Given the description of an element on the screen output the (x, y) to click on. 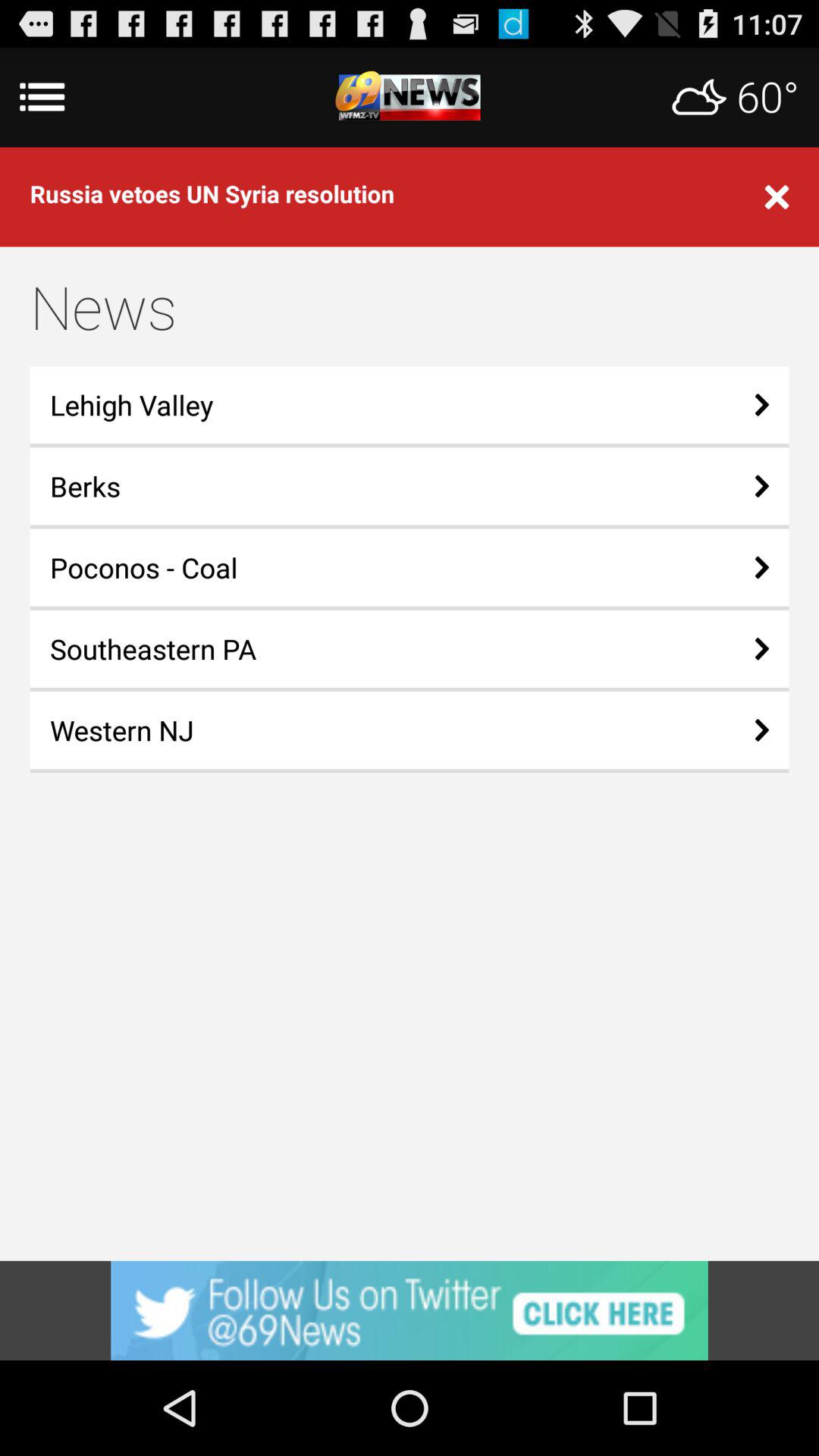
advertisement (409, 1310)
